Given the description of an element on the screen output the (x, y) to click on. 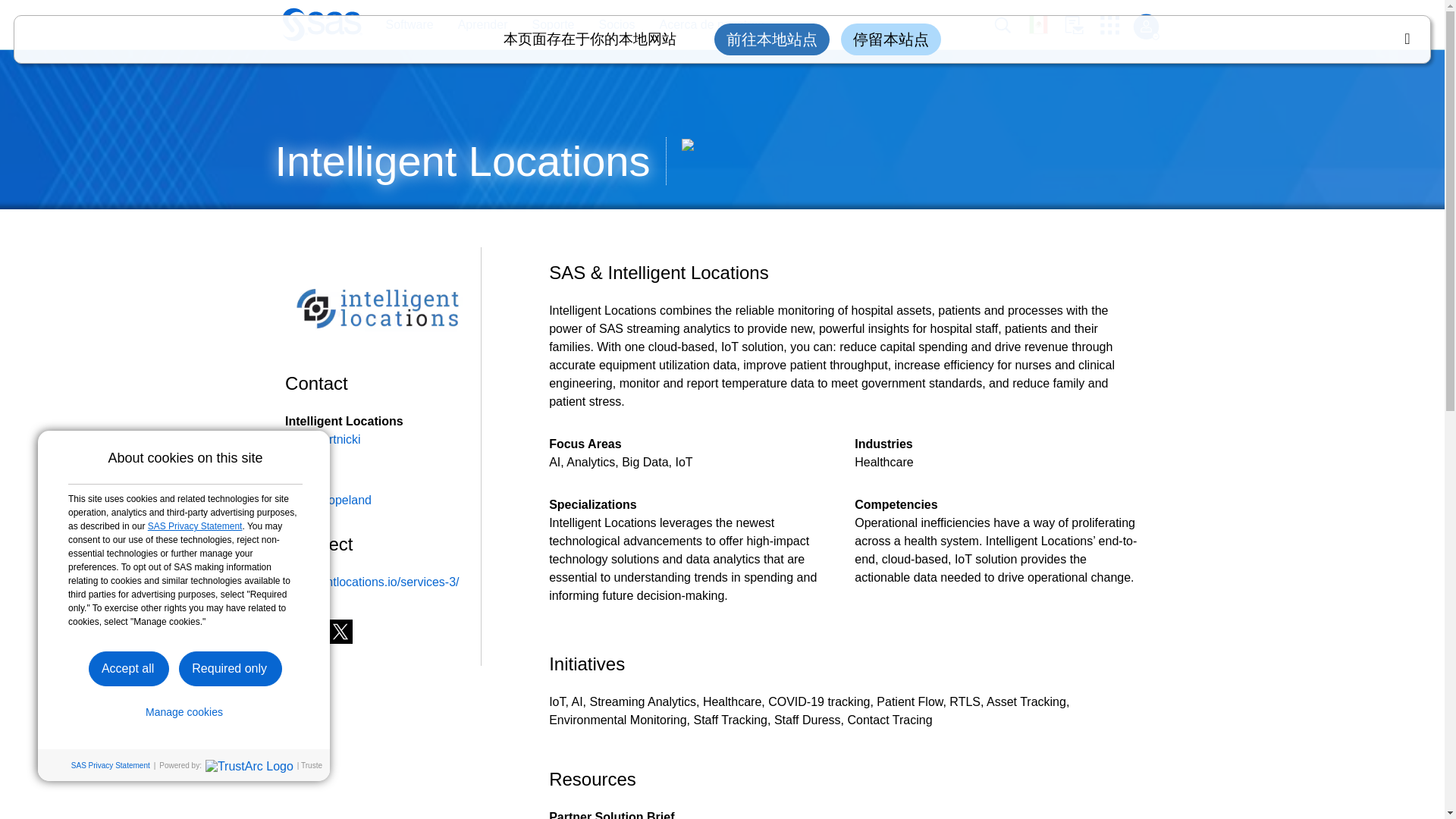
Acerca de nosotros (711, 24)
Buscar (1010, 25)
Aprender (482, 24)
Acerca de nosotros (704, 24)
Sitios SAS (1114, 25)
Socios (617, 24)
Software (409, 24)
Soporte (552, 24)
Aprender (475, 24)
